Given the description of an element on the screen output the (x, y) to click on. 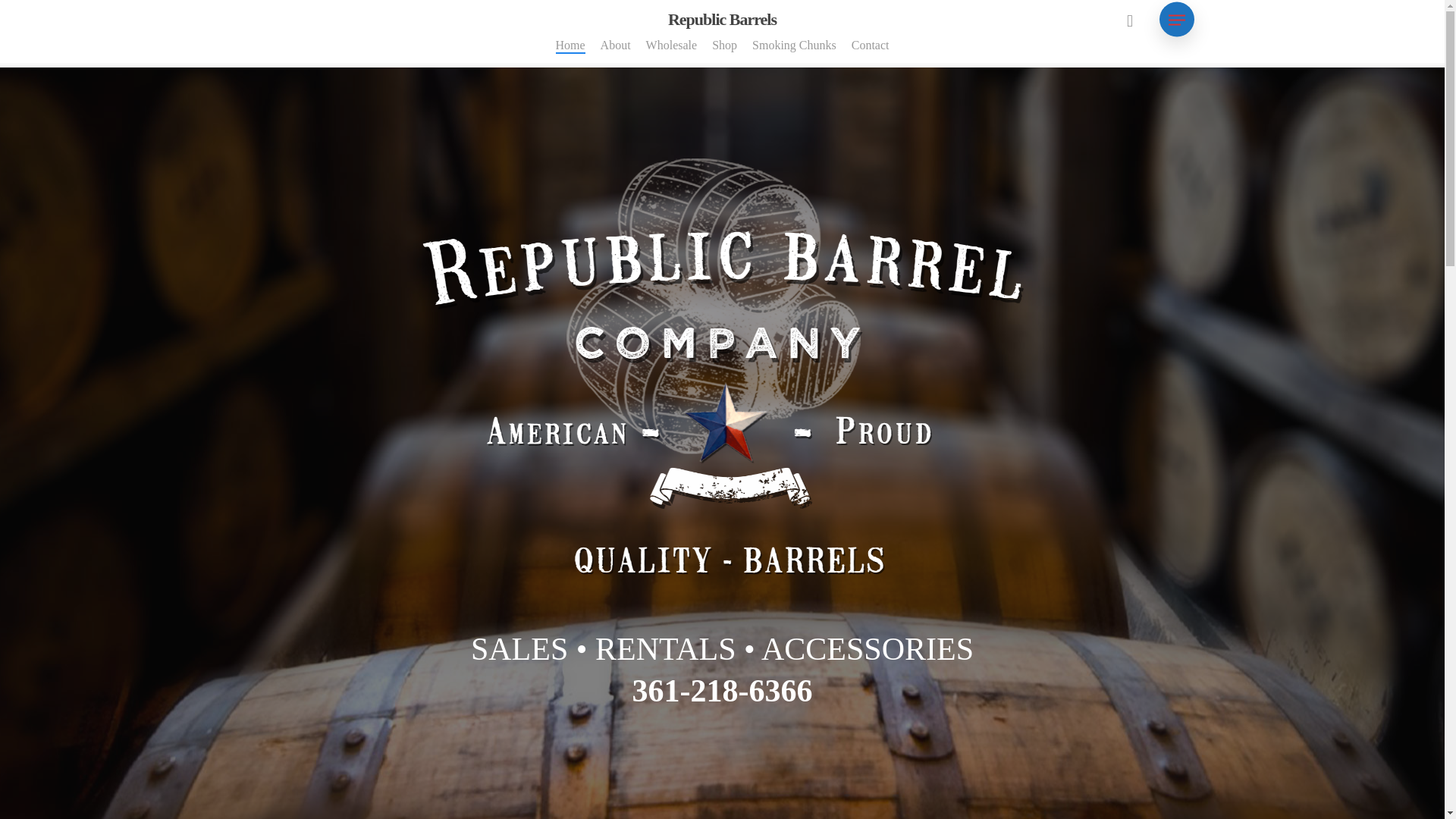
Republic Barrels (722, 19)
Smoking Chunks (793, 51)
About (614, 51)
Contact (870, 51)
Home (569, 51)
Shop (723, 51)
Wholesale (671, 51)
